Given the description of an element on the screen output the (x, y) to click on. 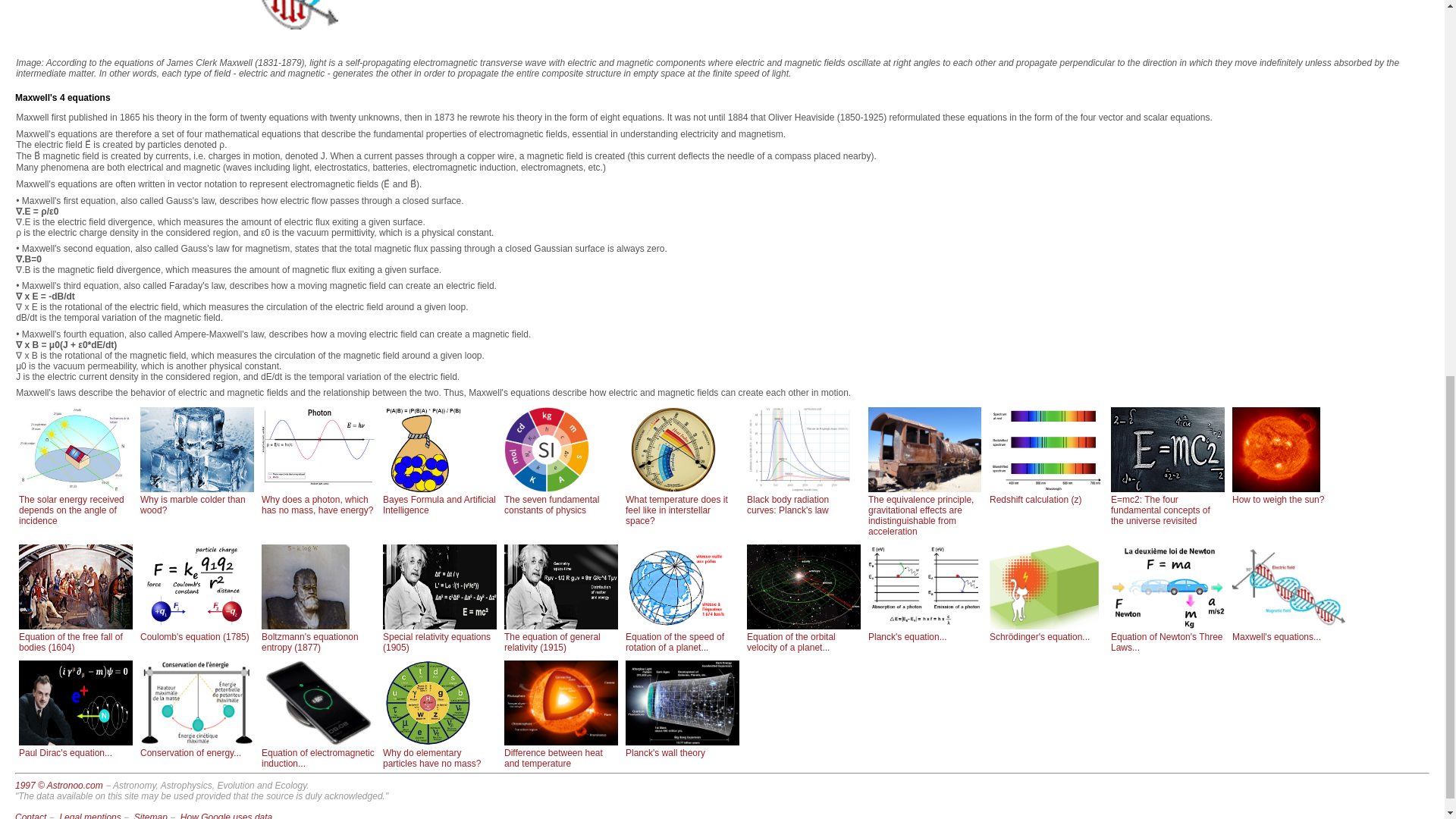
Why is marble colder than wood? (196, 499)
The solar energy received depends on the angle of incidence (75, 505)
